Given the description of an element on the screen output the (x, y) to click on. 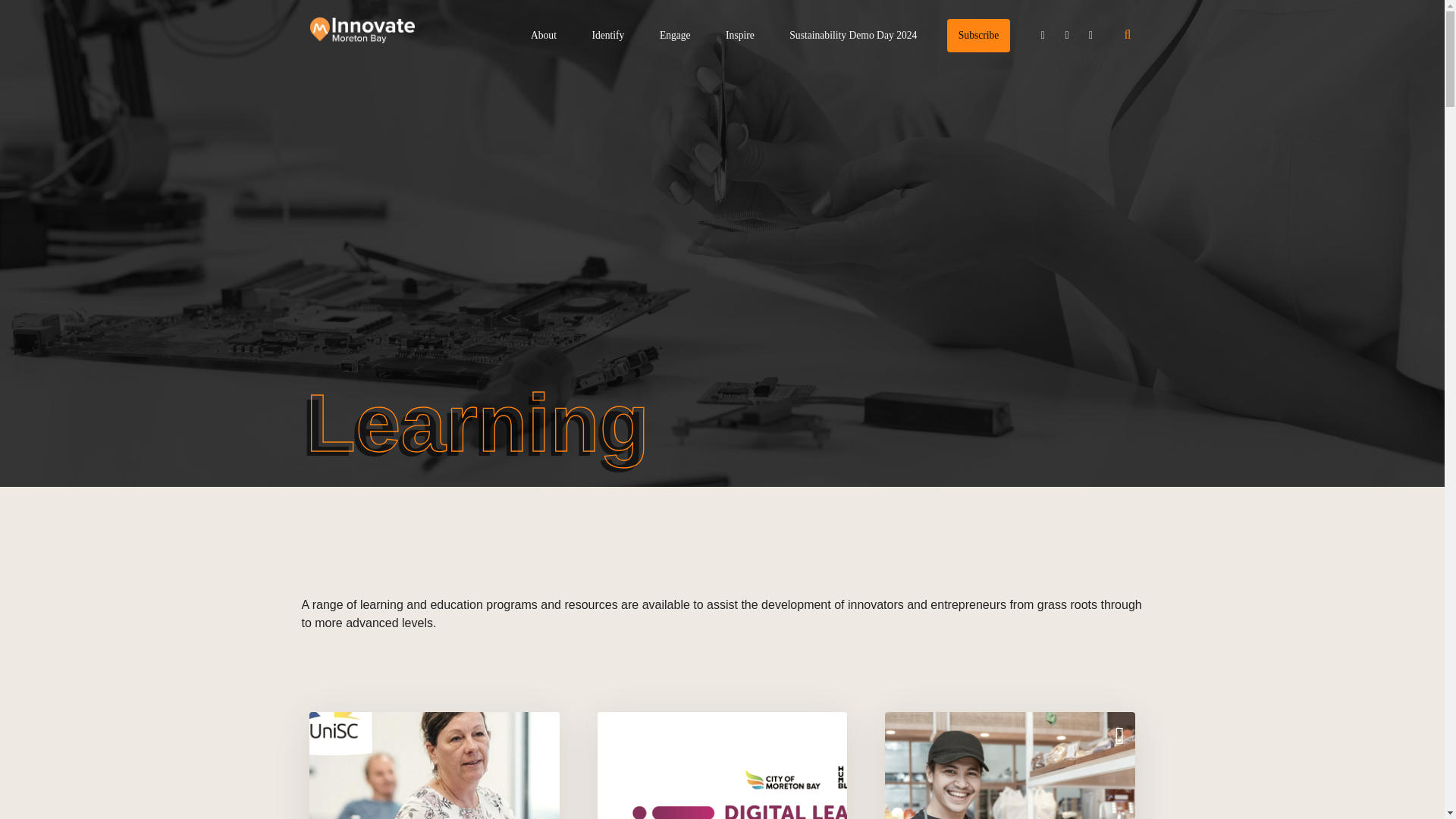
Identify (607, 35)
Subscribe (978, 35)
Sustainability Demo Day 2024 (852, 35)
About (542, 35)
Inspire (739, 35)
Engage (675, 35)
